Given the description of an element on the screen output the (x, y) to click on. 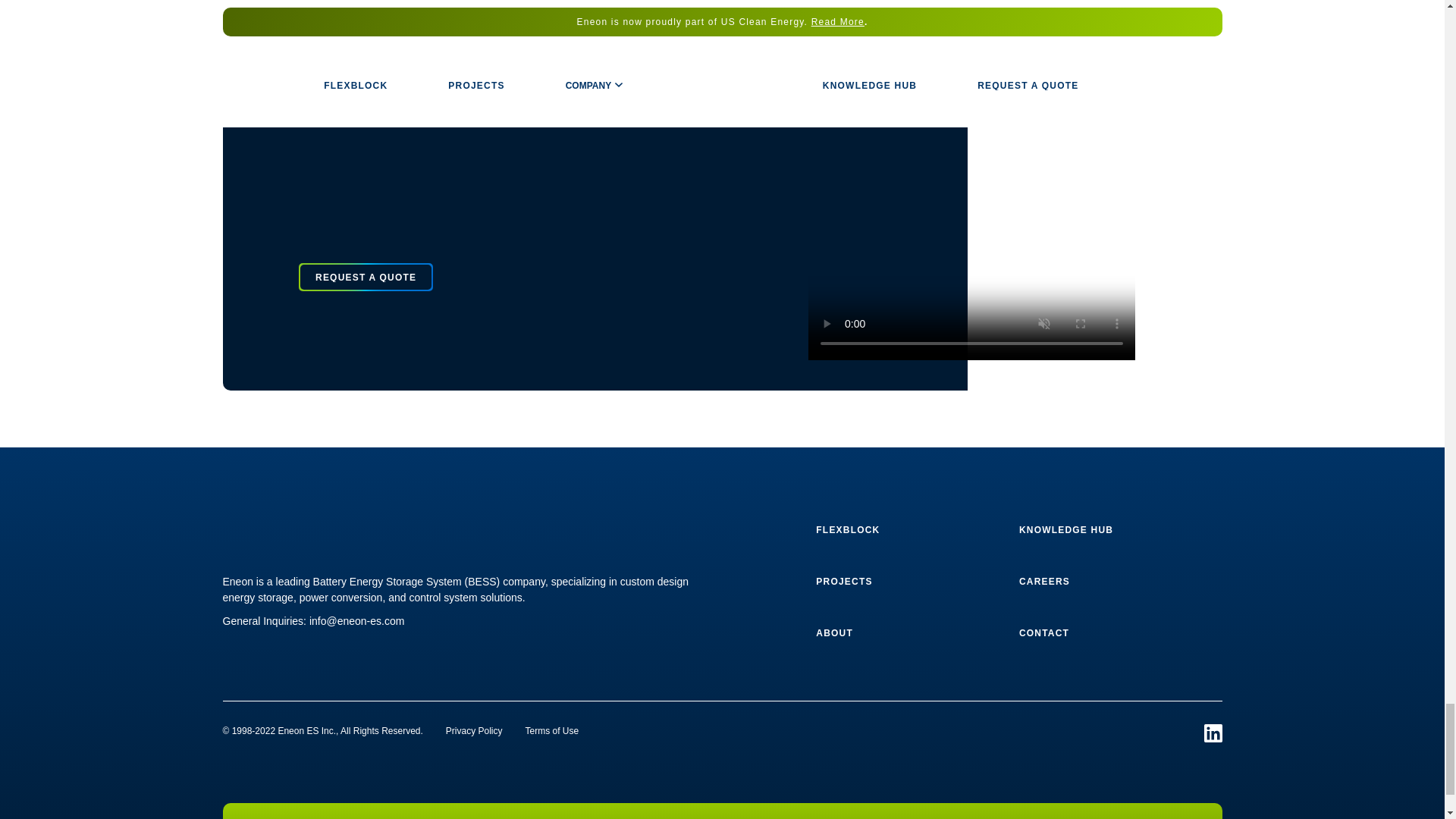
PROJECTS (843, 581)
ABOUT (834, 633)
Terms of Use (552, 730)
CAREERS (1044, 581)
Privacy Policy (473, 730)
REQUEST A QUOTE (365, 272)
FLEXBLOCK (847, 529)
KNOWLEDGE HUB (1066, 529)
CONTACT (1043, 633)
